Given the description of an element on the screen output the (x, y) to click on. 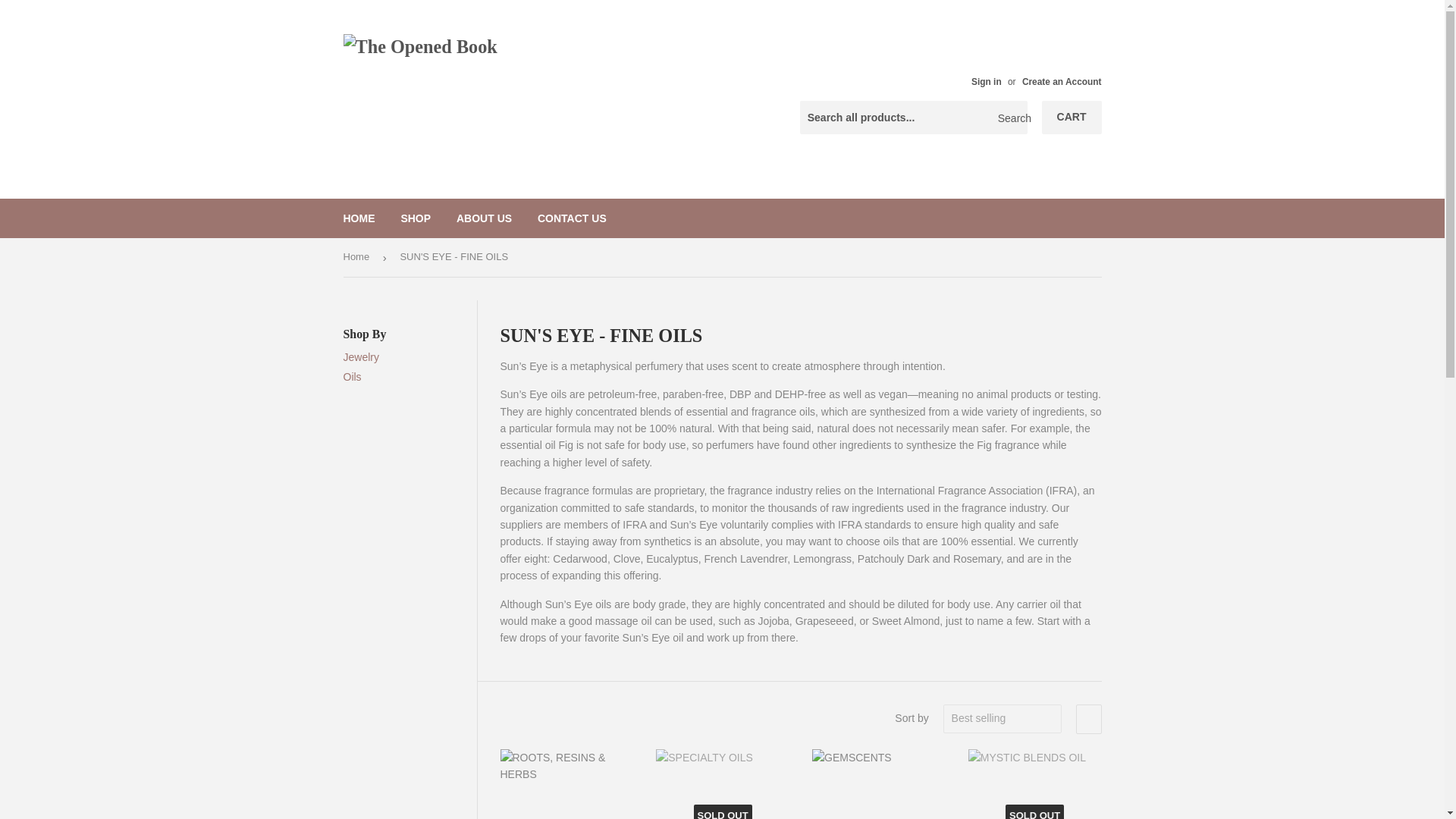
Oils (351, 377)
Sign in (986, 81)
Show products matching tag Oils (351, 377)
HOME (359, 218)
Jewelry (360, 357)
CART (1072, 117)
Create an Account (1062, 81)
Search (1009, 118)
ABOUT US (483, 218)
CONTACT US (571, 218)
SHOP (415, 218)
Show products matching tag Jewelry (360, 357)
